Given the description of an element on the screen output the (x, y) to click on. 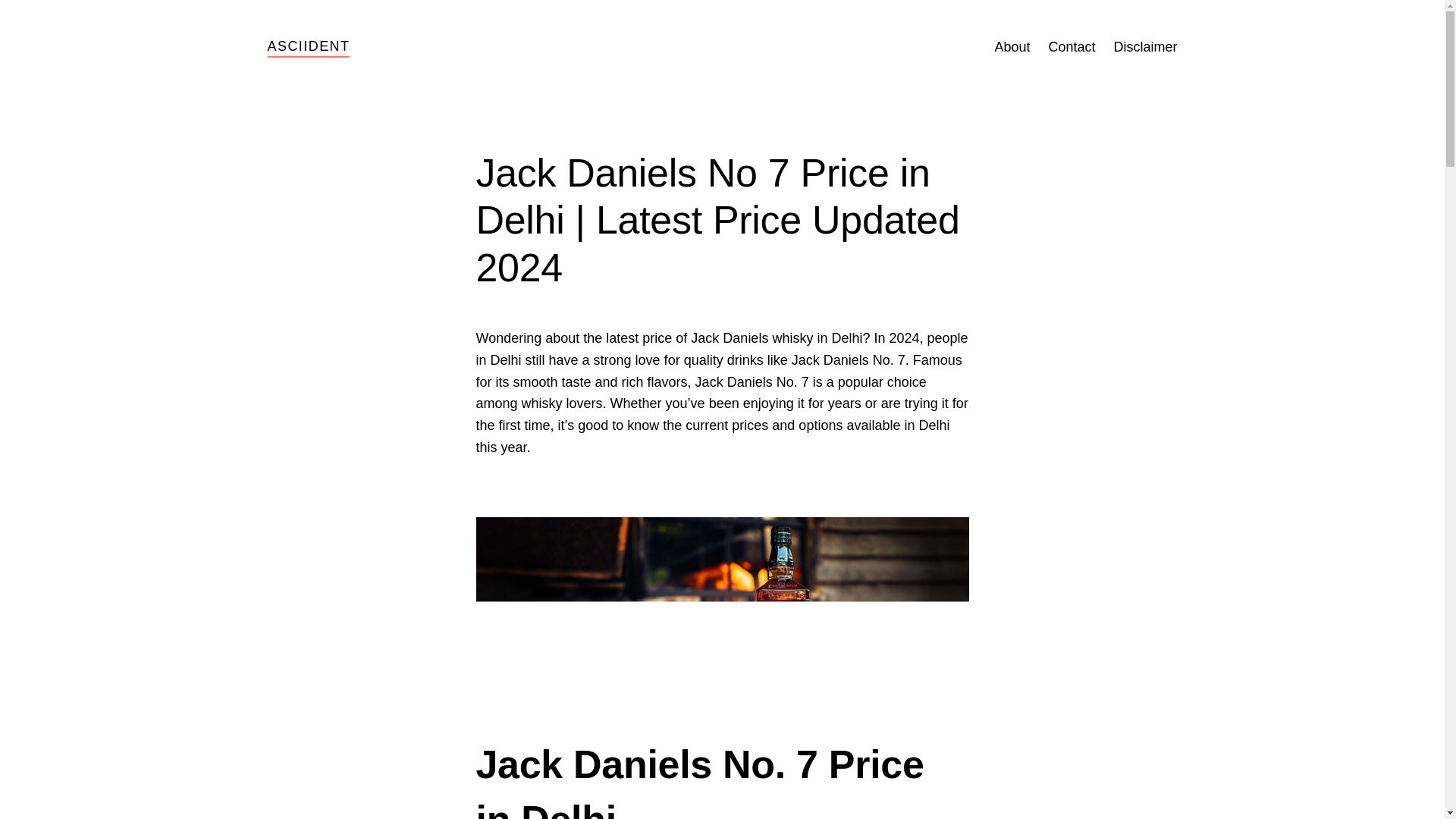
ASCIIDENT (307, 46)
About (1011, 47)
Contact (1071, 47)
Disclaimer (1144, 47)
